Given the description of an element on the screen output the (x, y) to click on. 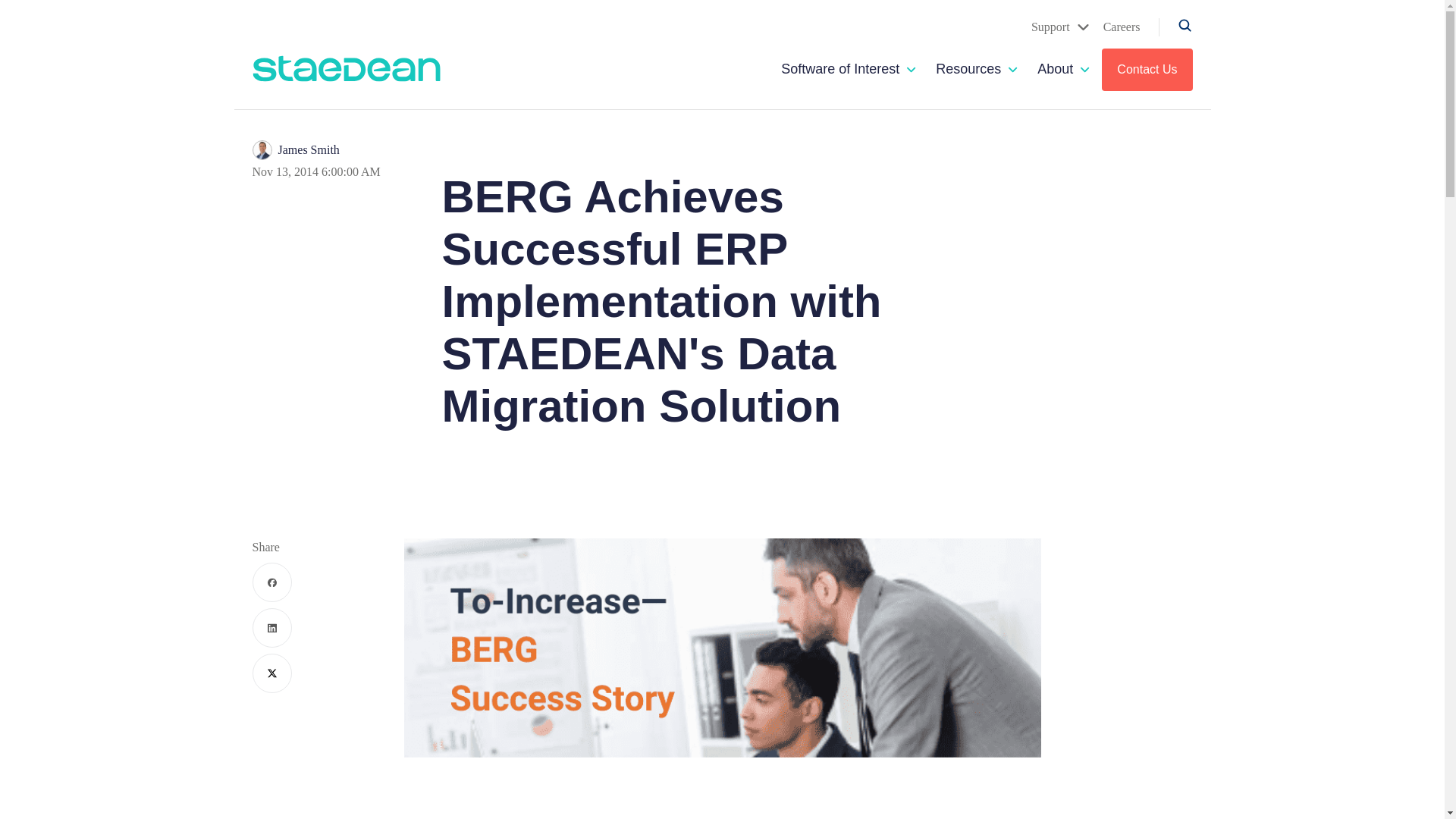
Careers (1121, 27)
About (1054, 69)
Software of Interest (839, 69)
Contact Us (1147, 69)
Support (1060, 27)
Resources (968, 69)
